Given the description of an element on the screen output the (x, y) to click on. 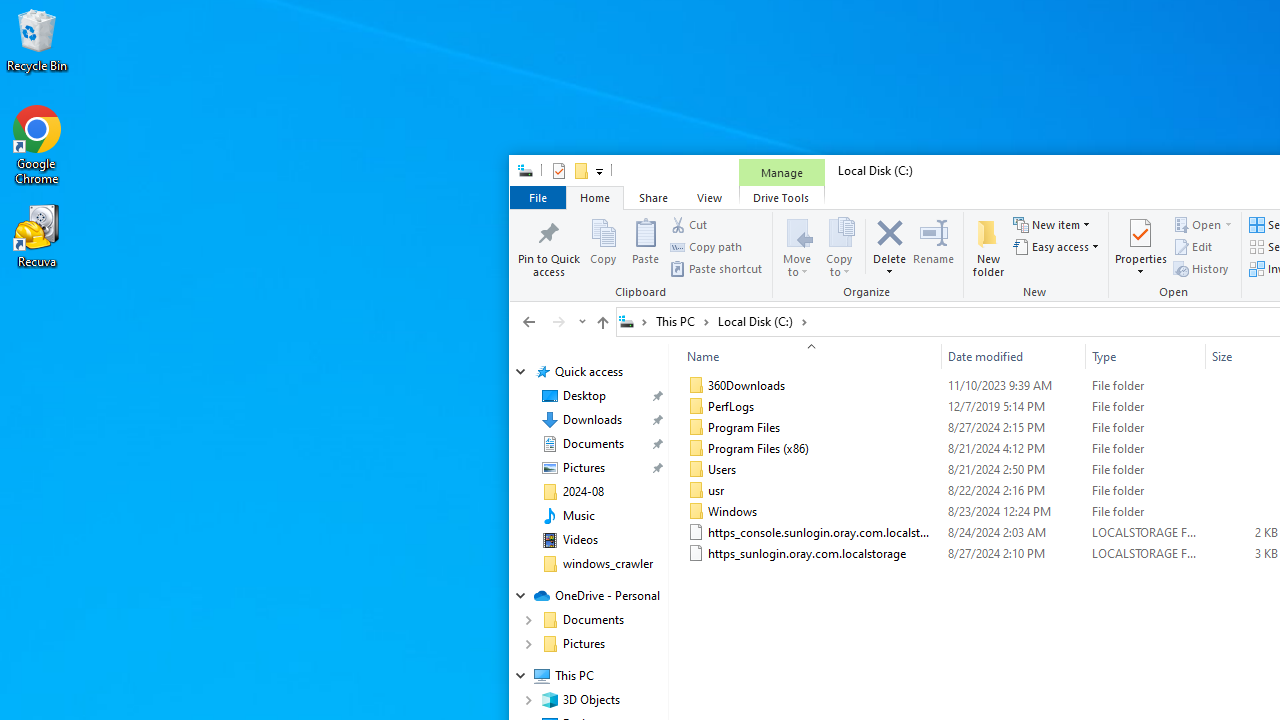
windows_crawler (607, 564)
All locations (633, 321)
System (520, 173)
Cut (688, 224)
Navigation buttons (552, 321)
Name (824, 553)
Type (1145, 553)
Paste shortcut (715, 268)
Recent locations (580, 321)
Name (805, 356)
Date modified (1013, 356)
System (520, 173)
